Given the description of an element on the screen output the (x, y) to click on. 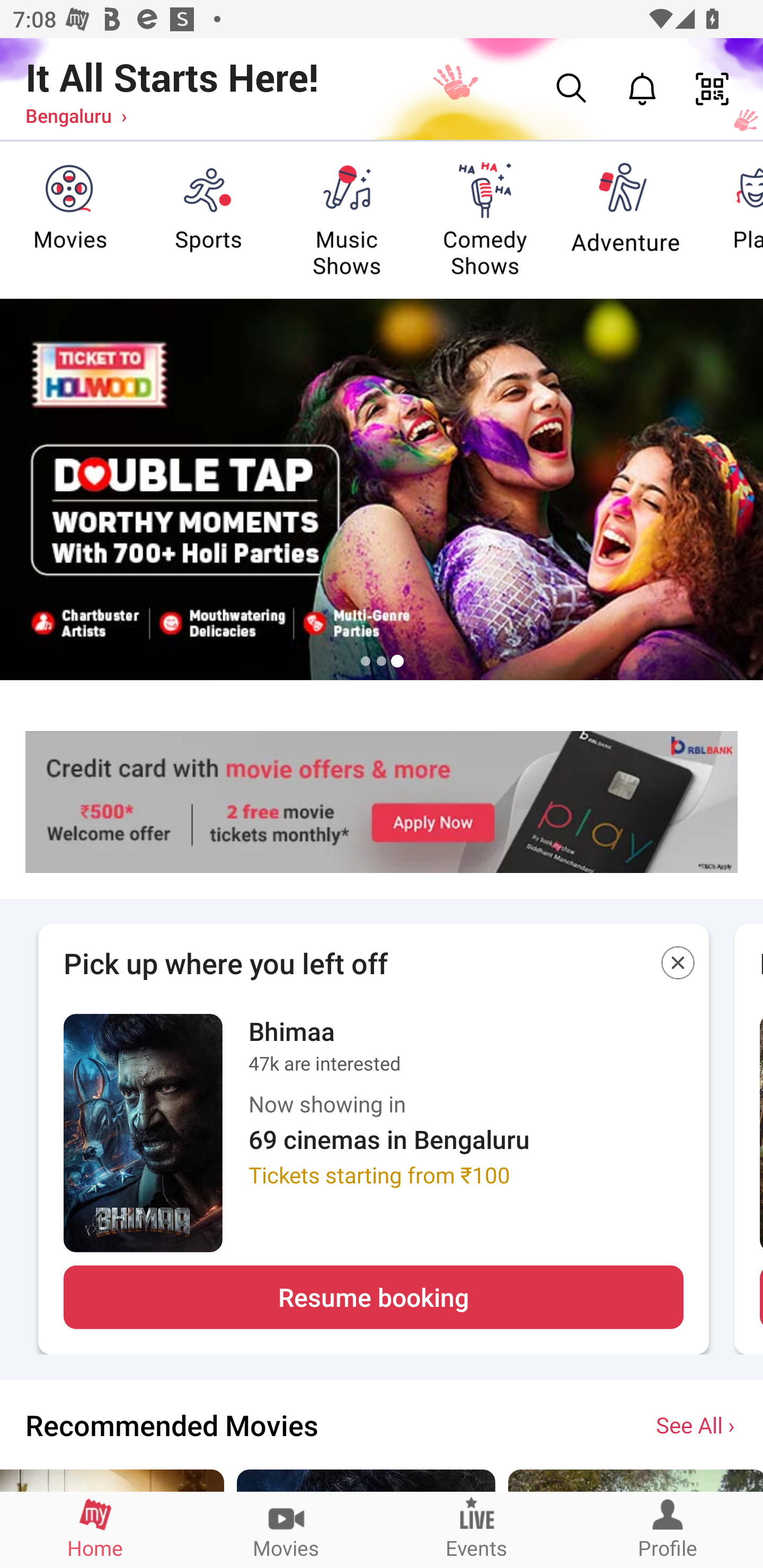
Bengaluru  › (76, 114)
  (678, 966)
Resume booking (373, 1297)
See All › (696, 1424)
Home (95, 1529)
Movies (285, 1529)
Events (476, 1529)
Profile (667, 1529)
